Given the description of an element on the screen output the (x, y) to click on. 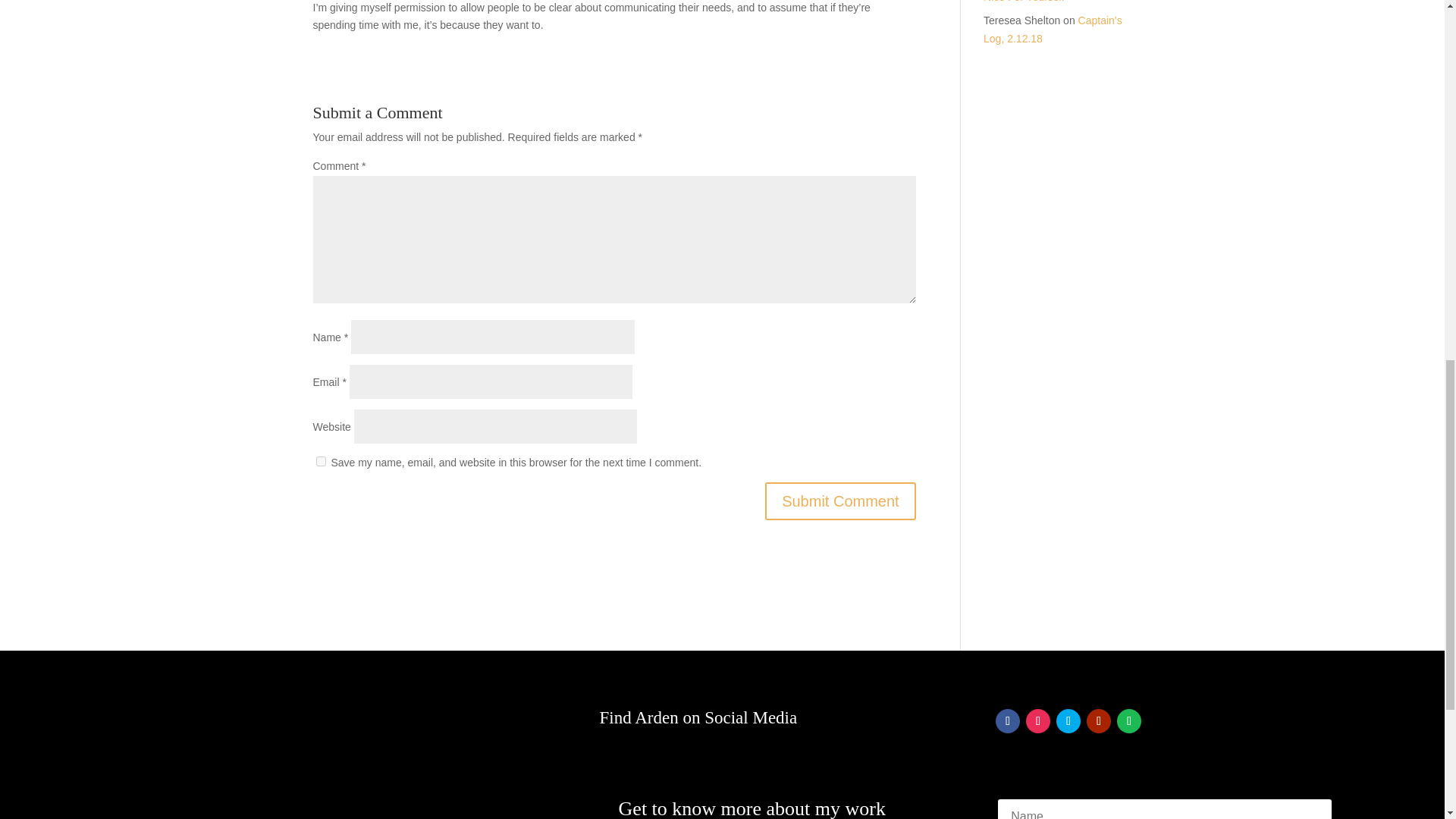
yes (319, 461)
Follow on Facebook (1007, 721)
Follow on Instagram (1037, 721)
Do Something Nice For Yourself (1048, 1)
Submit Comment (840, 501)
Follow on Youtube (1098, 721)
Submit Comment (840, 501)
Follow on Spotify (1128, 721)
Follow on Twitter (1068, 721)
